Given the description of an element on the screen output the (x, y) to click on. 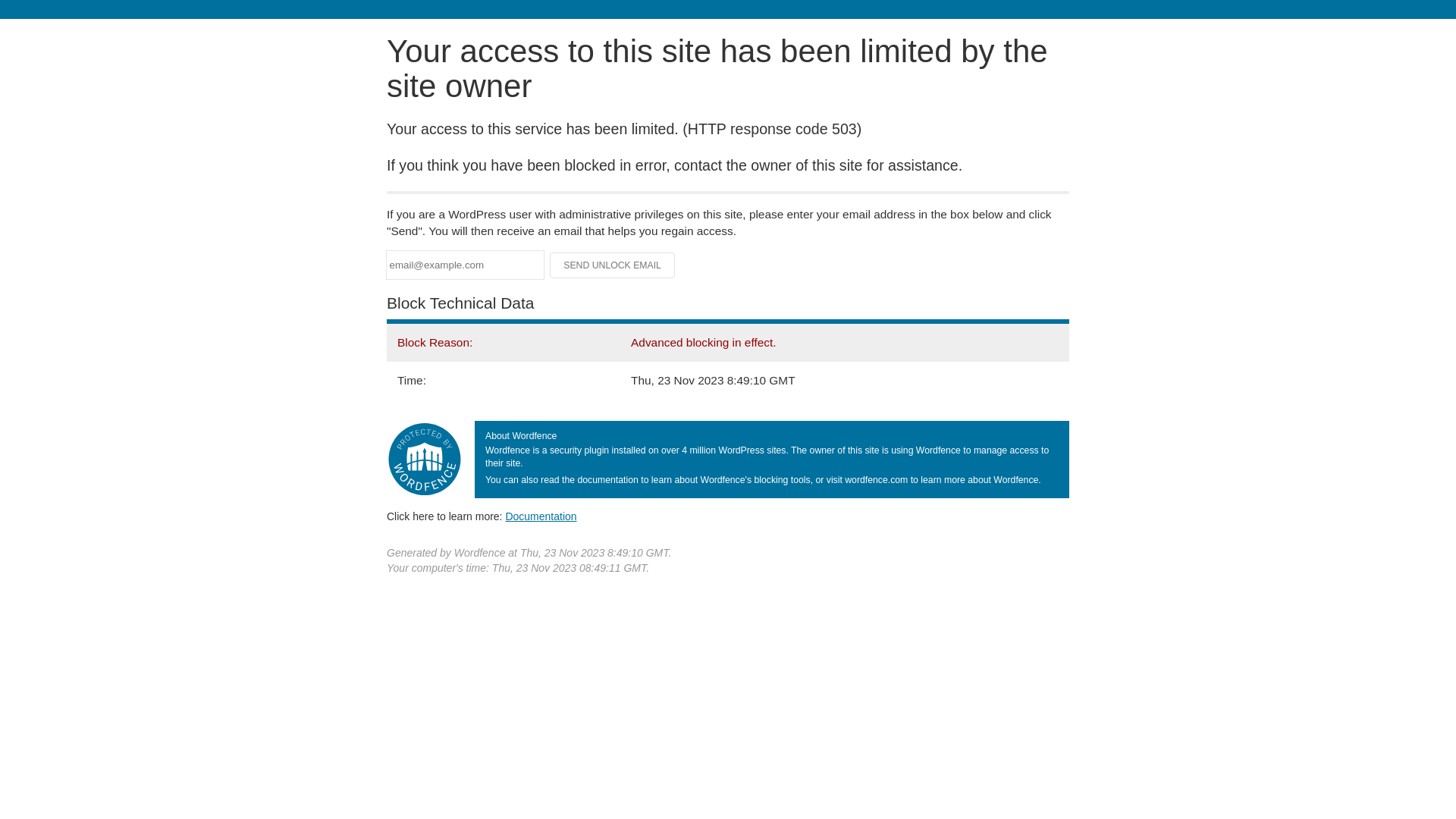
Send Unlock Email Element type: text (612, 265)
Documentation Element type: text (540, 516)
